Given the description of an element on the screen output the (x, y) to click on. 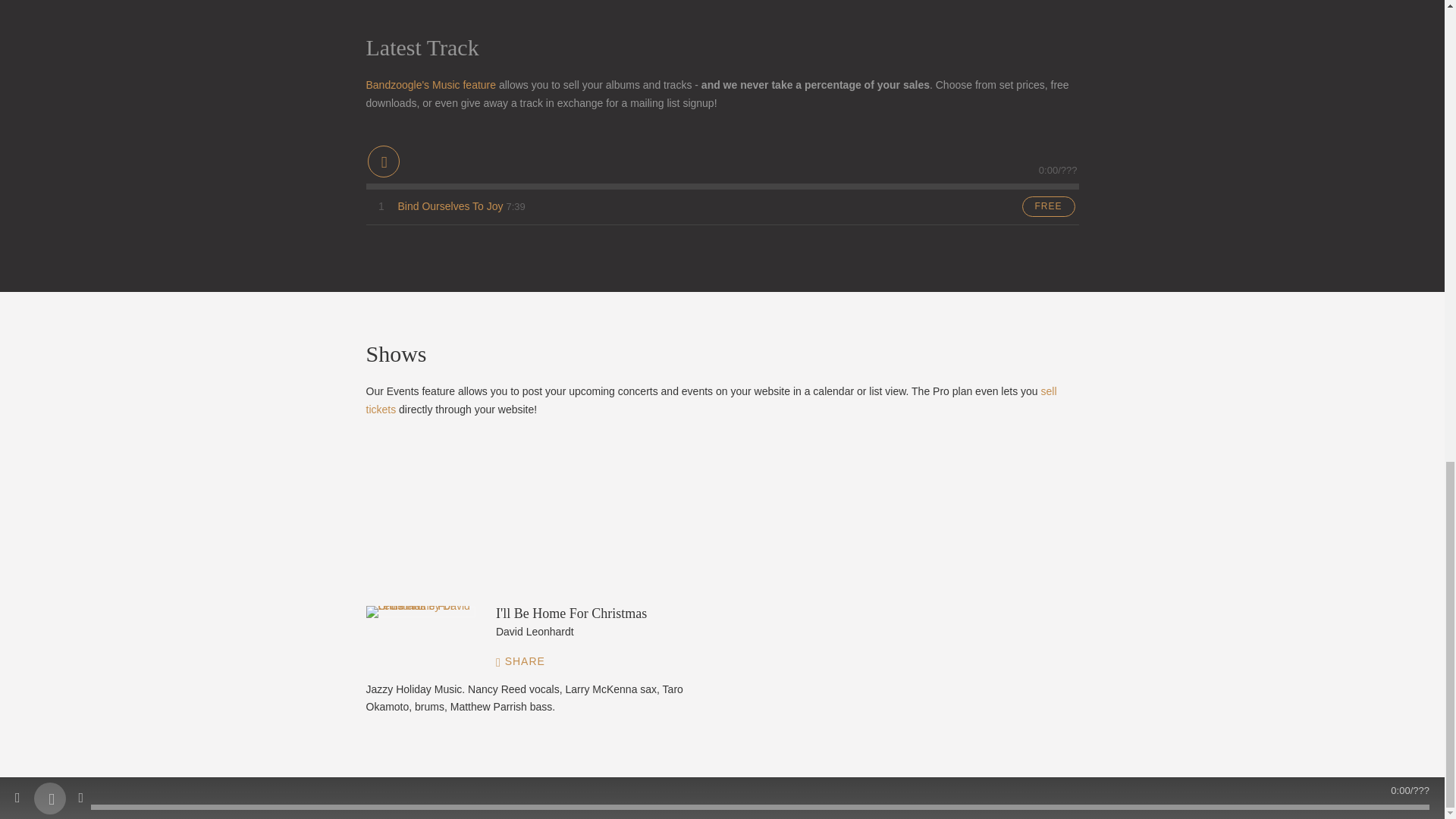
Share I'll Be Home For Christmas  (528, 661)
I'll Be Home For Christmas  (420, 612)
SHARE (528, 661)
